Given the description of an element on the screen output the (x, y) to click on. 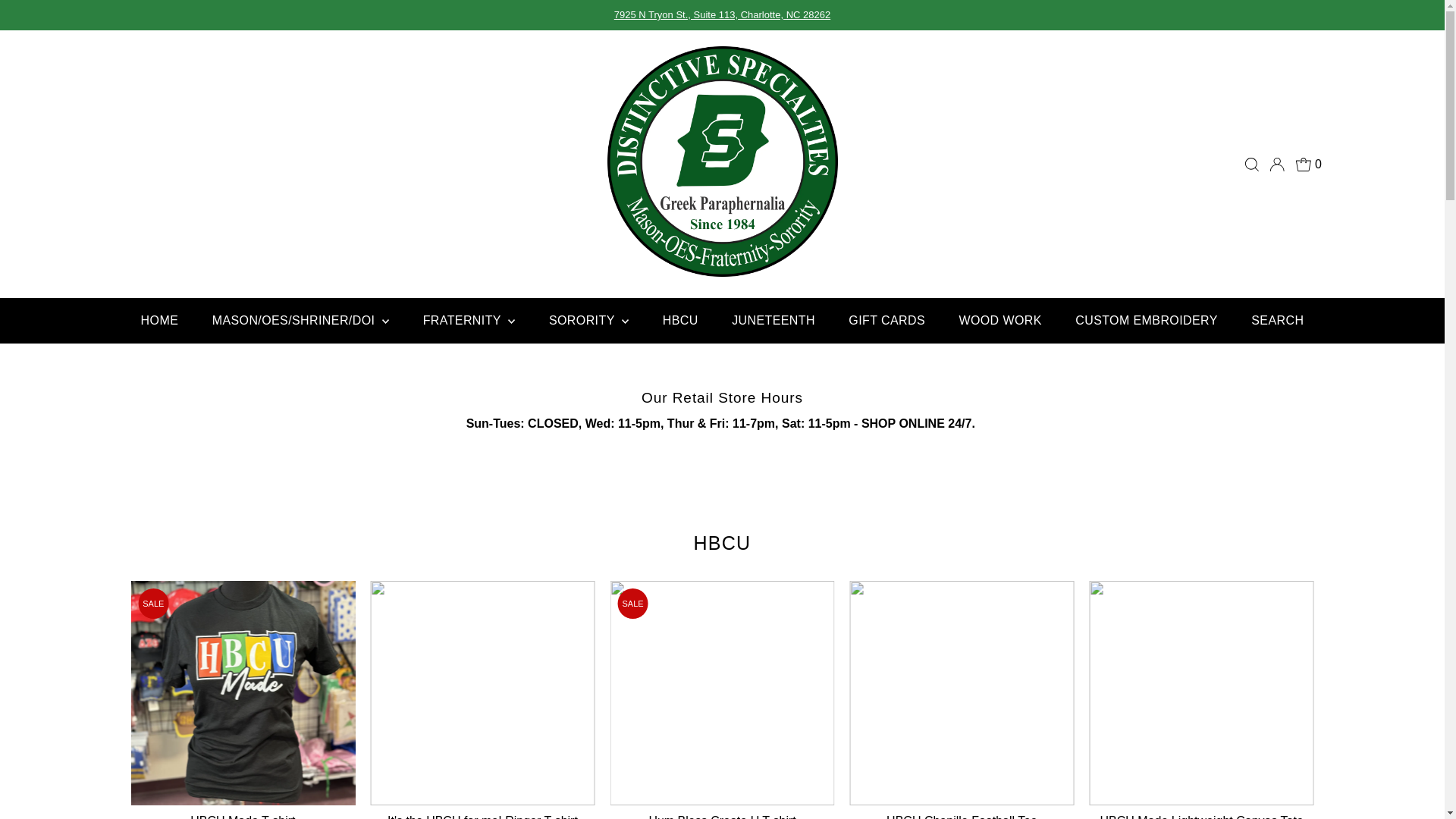
It's the HBCU for me! Ringer T-shirt (481, 692)
HOME (159, 320)
Skip to content (55, 18)
7925 N Tryon St., Suite 113, Charlotte, NC 28262 (721, 14)
Hum Bless Create U T-shirt (722, 692)
HBCU Made T-shirt (243, 692)
0 (1308, 164)
